Given the description of an element on the screen output the (x, y) to click on. 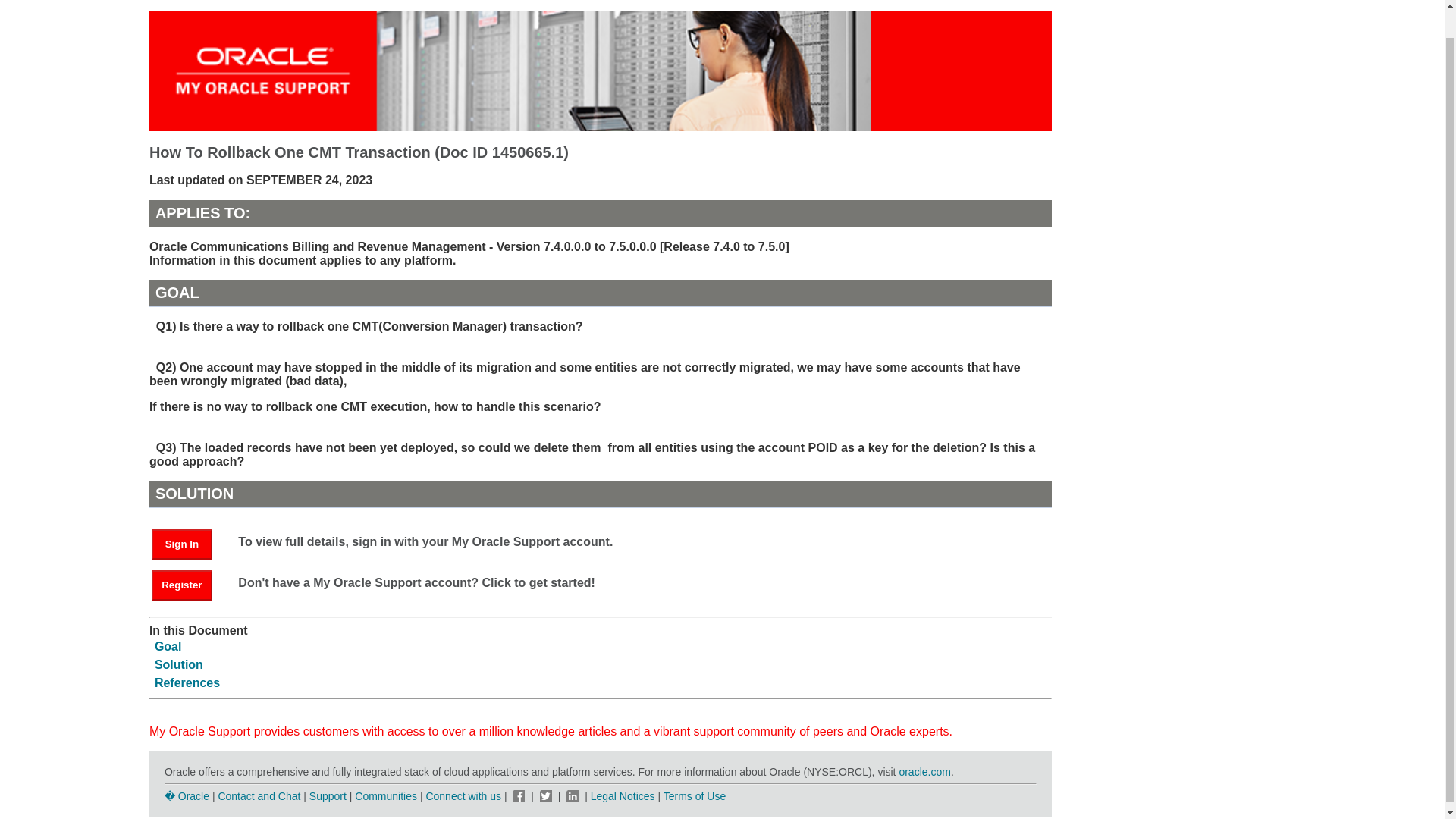
Contact and Chat (257, 796)
Communities (385, 796)
Sign In (181, 544)
Register (181, 585)
Sign In (189, 543)
Legal Notices (623, 796)
Register (189, 584)
Support (327, 796)
References (186, 682)
Terms of Use (694, 796)
